Given the description of an element on the screen output the (x, y) to click on. 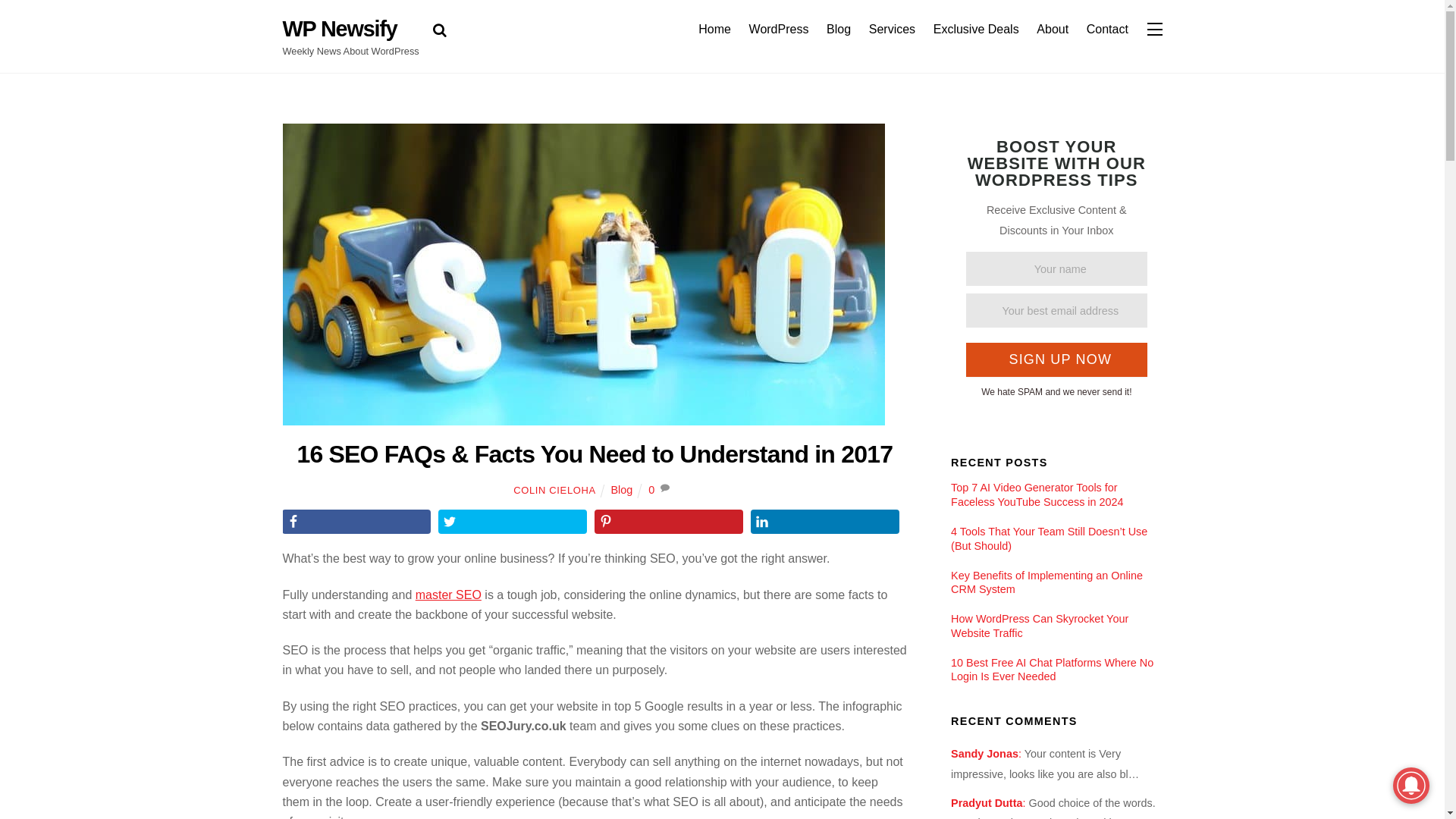
Share on LinkedIn (825, 521)
WordPress (778, 29)
Sign Up Now (1056, 359)
WP Newsify (339, 28)
Share on Twitter (512, 521)
Exclusive Deals (976, 29)
Home (714, 29)
About (1052, 29)
Share on Pinterest (668, 521)
